Given the description of an element on the screen output the (x, y) to click on. 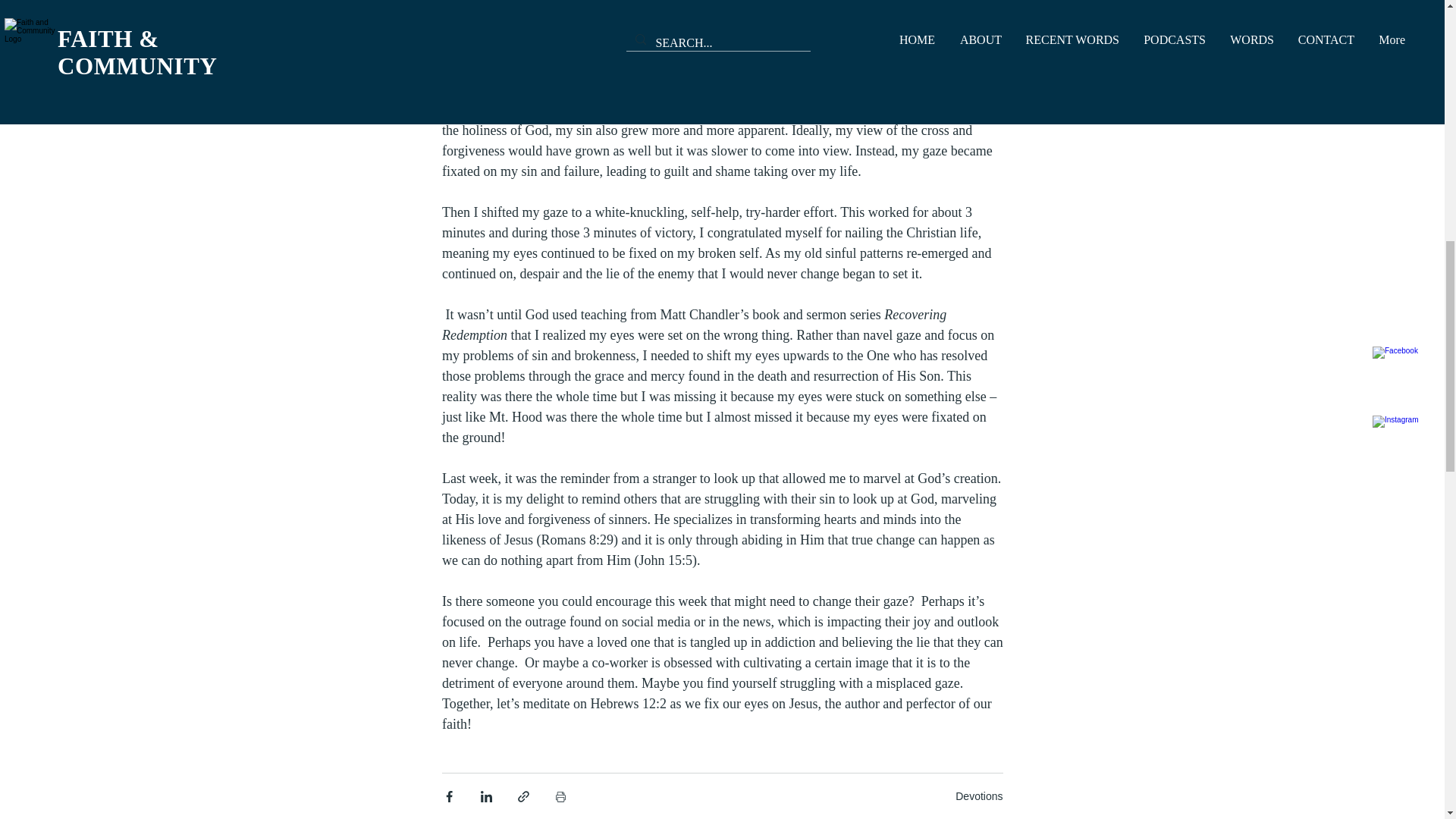
Devotions (979, 796)
